Given the description of an element on the screen output the (x, y) to click on. 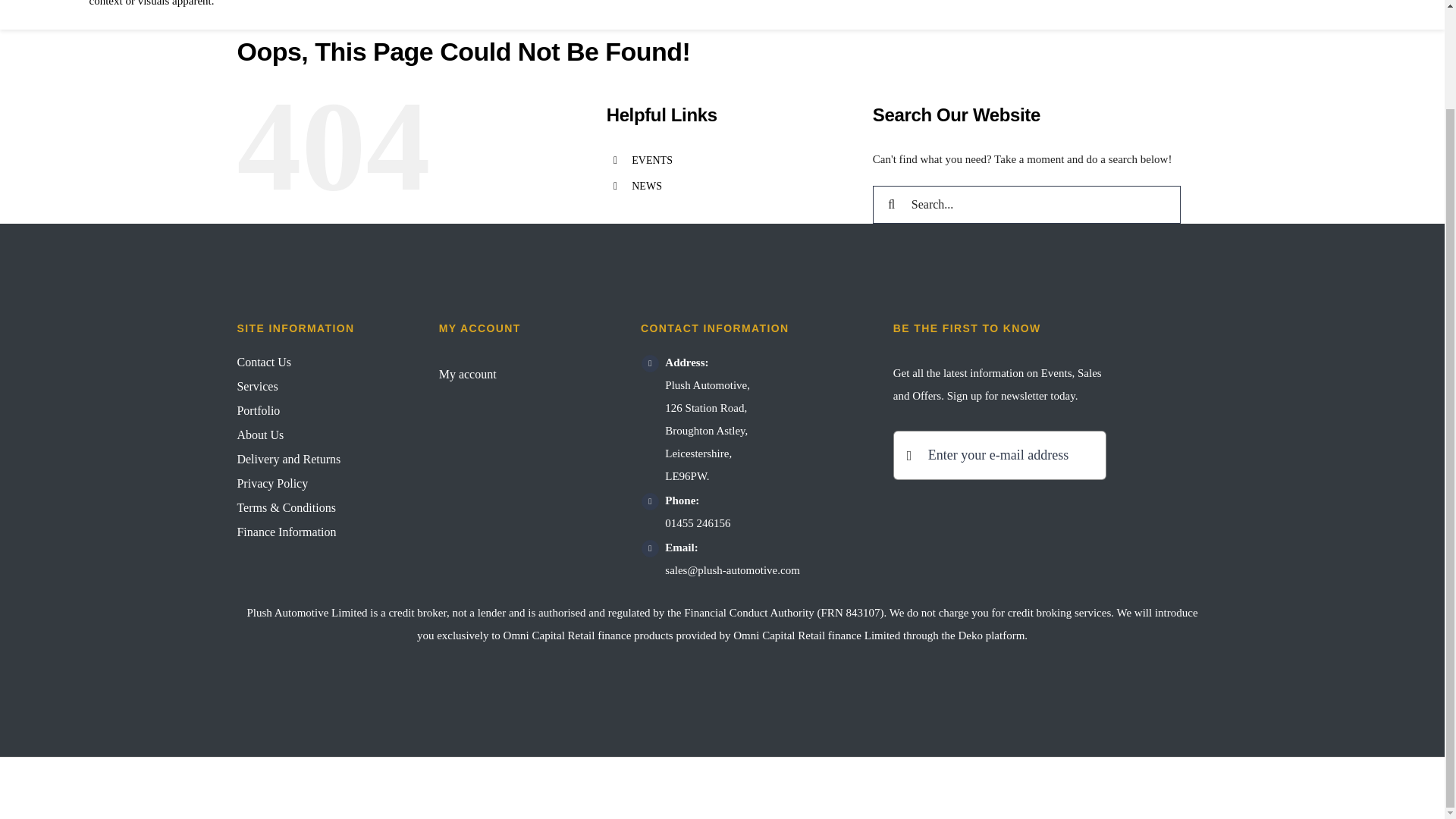
Contact Us (316, 362)
Delivery and Returns (316, 459)
Portfolio (316, 410)
Services (316, 386)
EVENTS (651, 160)
About Us (316, 435)
NEWS (646, 185)
